Given the description of an element on the screen output the (x, y) to click on. 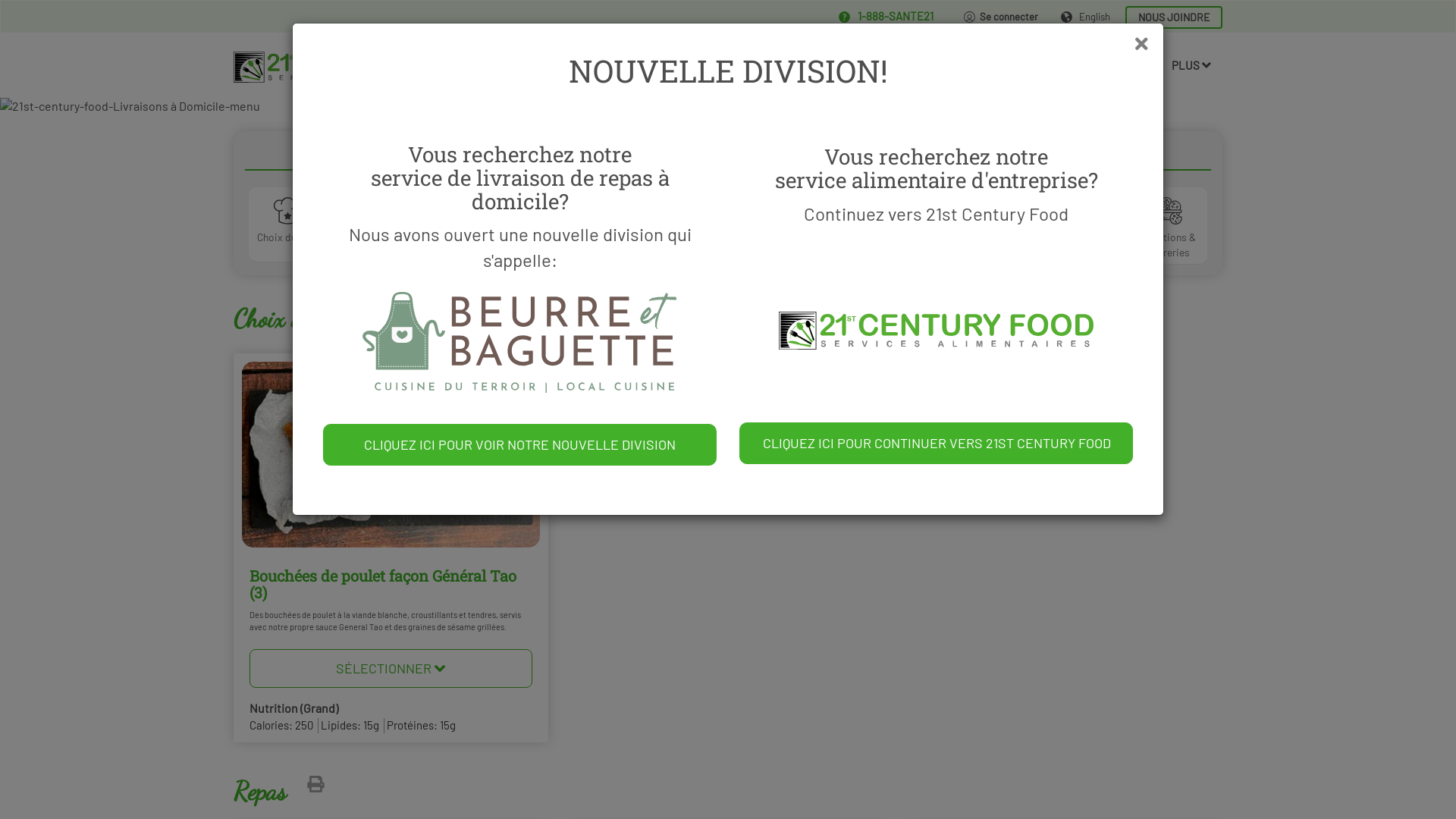
 Se connecter Element type: text (1000, 16)
Sushis Element type: text (679, 224)
CLIQUEZ ICI POUR VOIR NOTRE NOUVELLE DIVISION Element type: text (519, 444)
NOUS JOINDRE Element type: text (1173, 17)
CLIQUEZ ICI POUR CONTINUER VERS 21ST CENTURY FOOD Element type: text (935, 443)
Paninis & wraps Element type: text (874, 225)
Coin des enfants Element type: text (483, 225)
TRAITEUR Element type: text (715, 64)
Collations & sucreries Element type: text (1168, 225)
  English Element type: text (1085, 16)
Pizzas Element type: text (581, 224)
Salades Element type: text (776, 224)
Choix du Chef Element type: text (287, 224)
PLUS Element type: text (1191, 64)
PROGRAMME DE REPAS Element type: text (902, 64)
Repas Element type: text (385, 224)
